Given the description of an element on the screen output the (x, y) to click on. 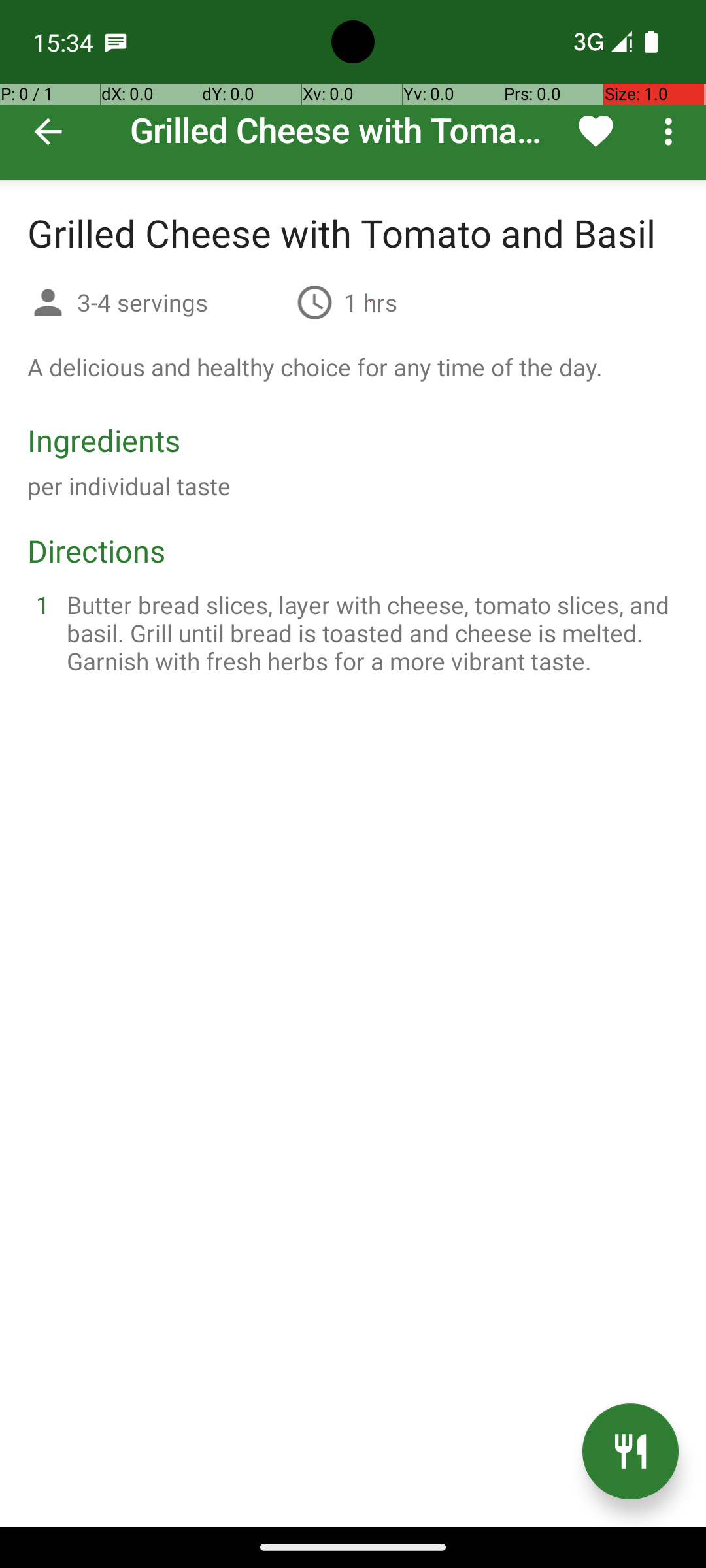
Grilled Cheese with Tomato and Basil Element type: android.widget.FrameLayout (353, 89)
3-4 servings Element type: android.widget.TextView (181, 301)
1 hrs Element type: android.widget.TextView (370, 301)
per individual taste Element type: android.widget.TextView (128, 485)
Butter bread slices, layer with cheese, tomato slices, and basil. Grill until bread is toasted and cheese is melted. Garnish with fresh herbs for a more vibrant taste. Element type: android.widget.TextView (368, 632)
